Given the description of an element on the screen output the (x, y) to click on. 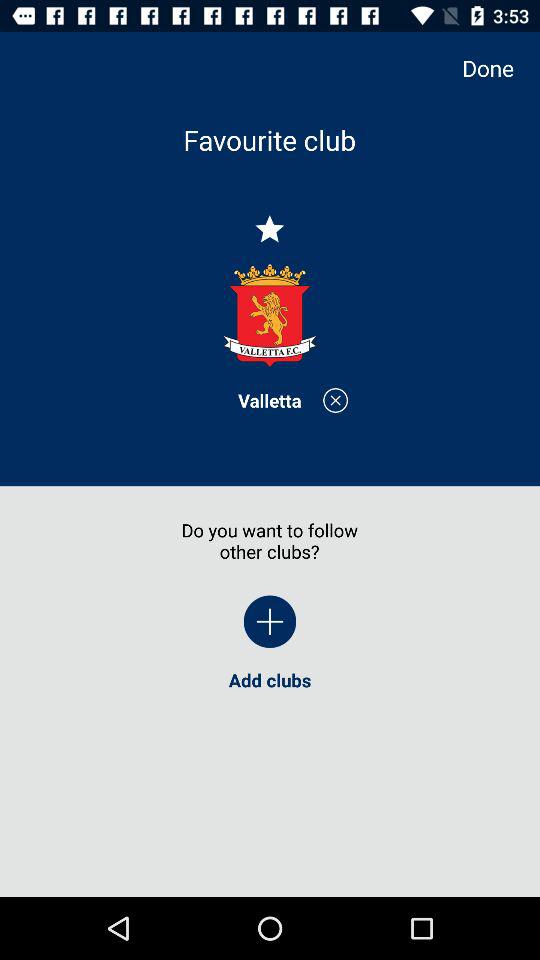
open icon above add clubs icon (497, 68)
